Given the description of an element on the screen output the (x, y) to click on. 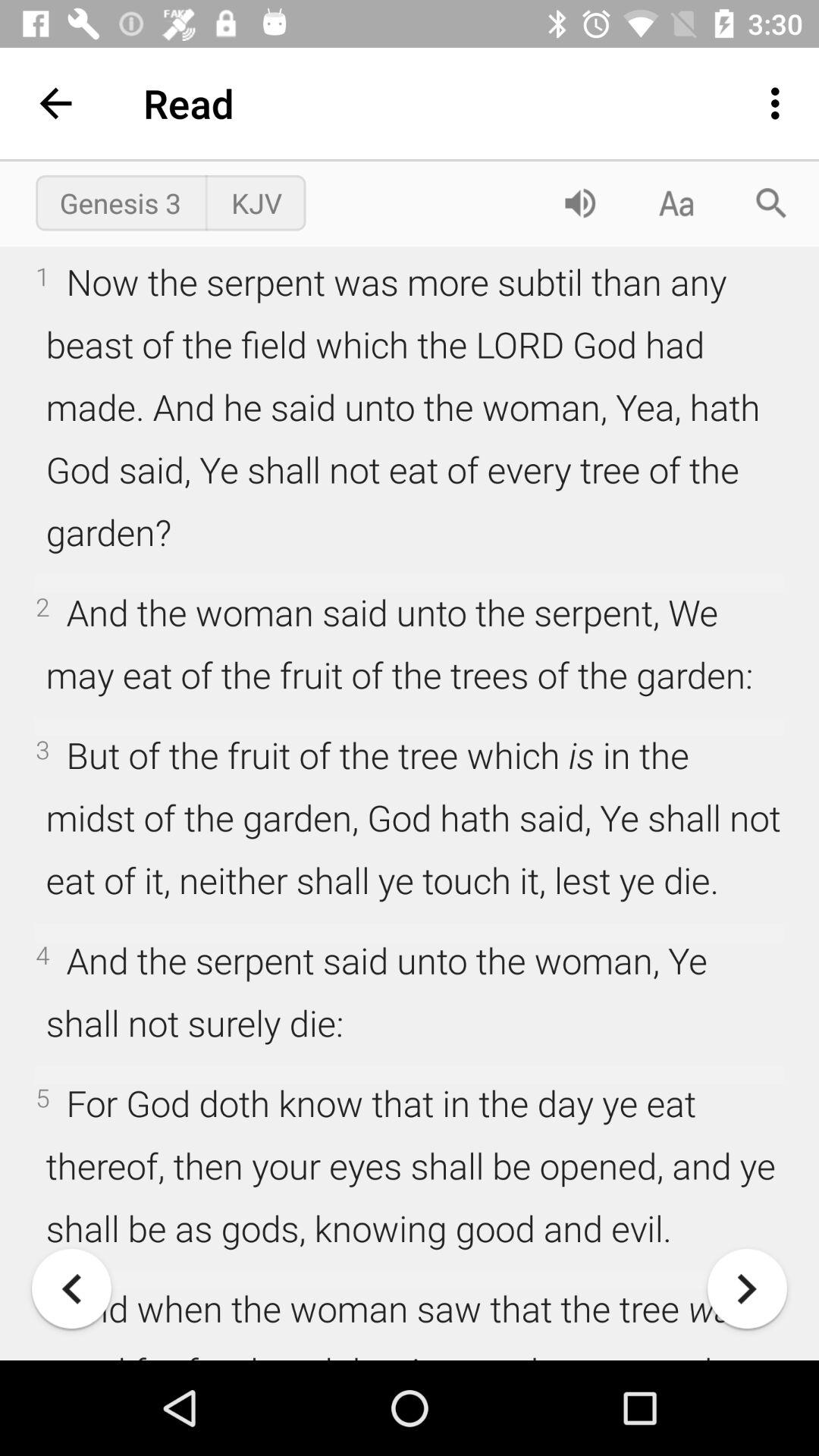
turn off the app next to the read app (55, 103)
